Given the description of an element on the screen output the (x, y) to click on. 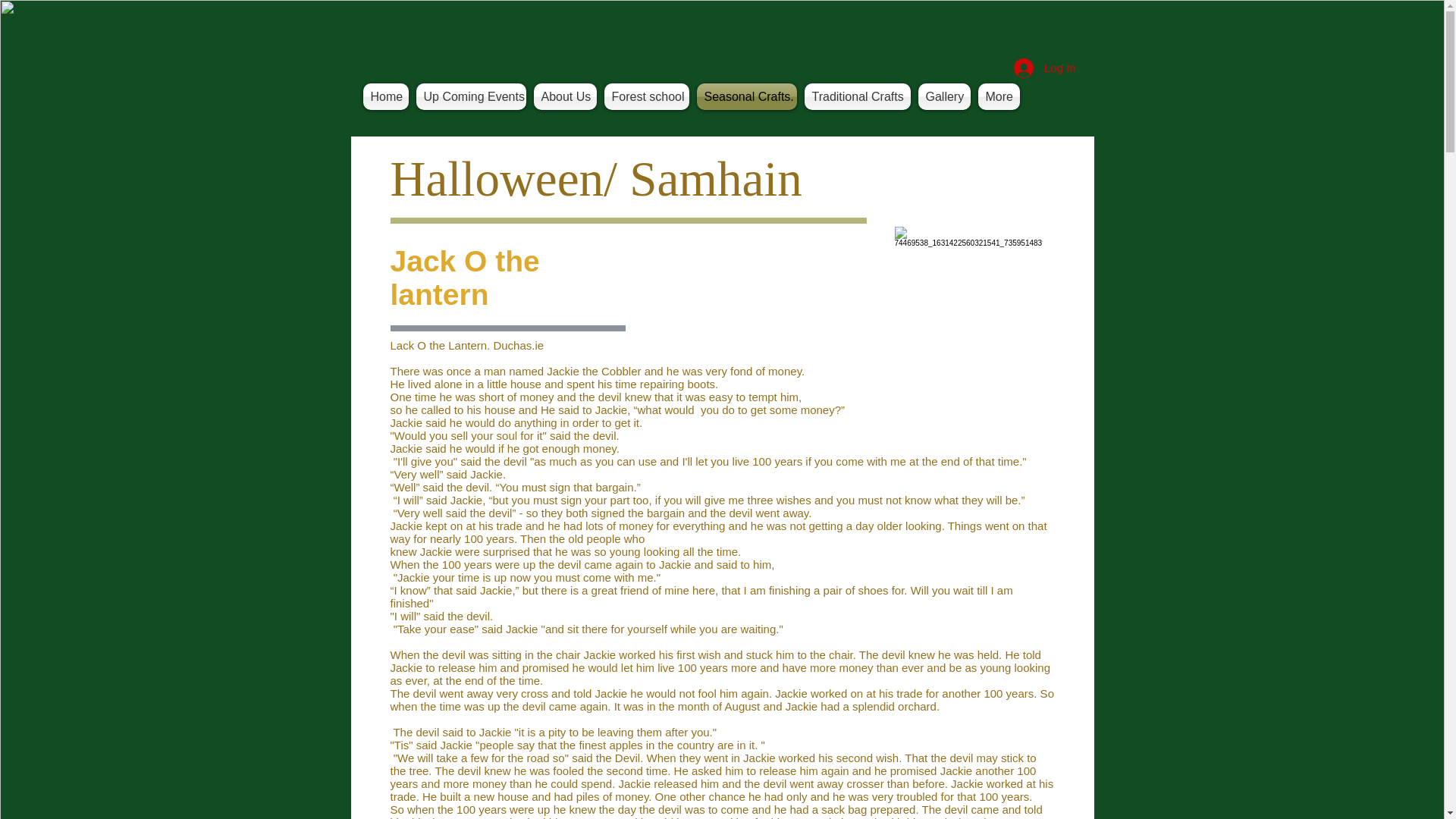
Forest school (646, 96)
Up Coming Events (470, 96)
Log In (1044, 67)
Traditional Crafts (857, 96)
Gallery (944, 96)
About Us (564, 96)
Seasonal Crafts. (746, 96)
Home (387, 96)
